Given the description of an element on the screen output the (x, y) to click on. 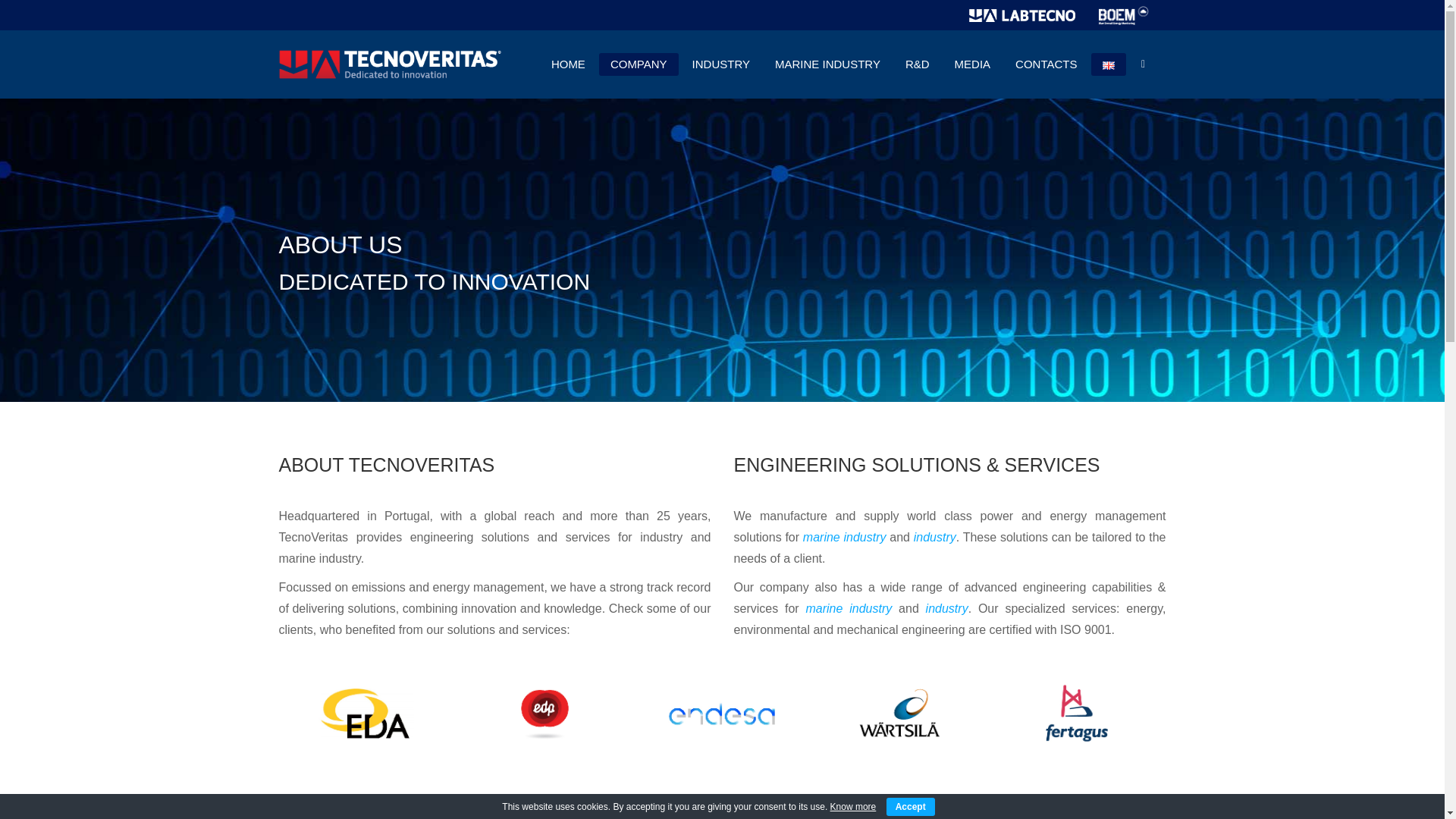
Search... (722, 33)
Tecnoveritas (392, 64)
